Given the description of an element on the screen output the (x, y) to click on. 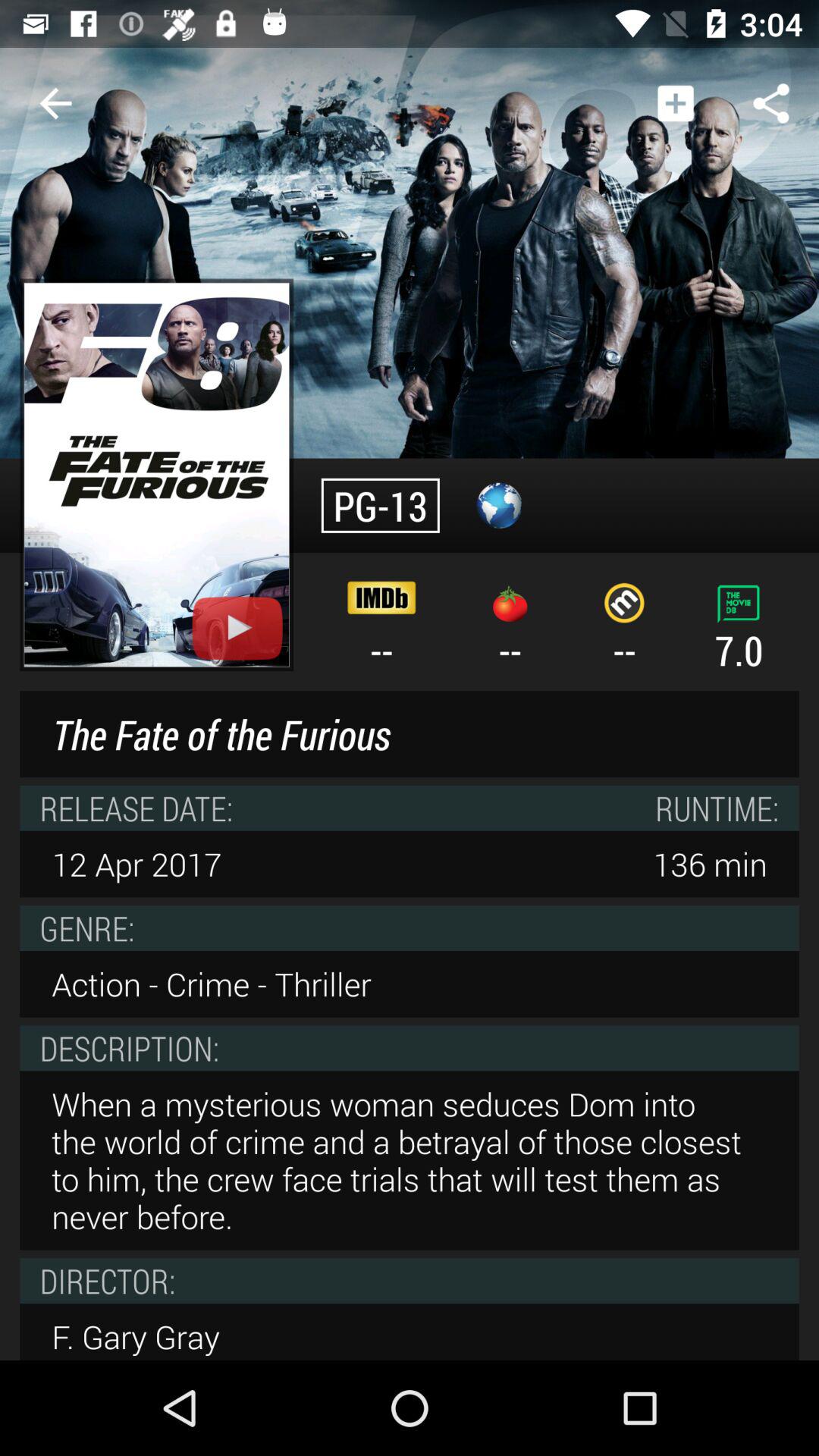
select the app next to the   app (55, 103)
